Given the description of an element on the screen output the (x, y) to click on. 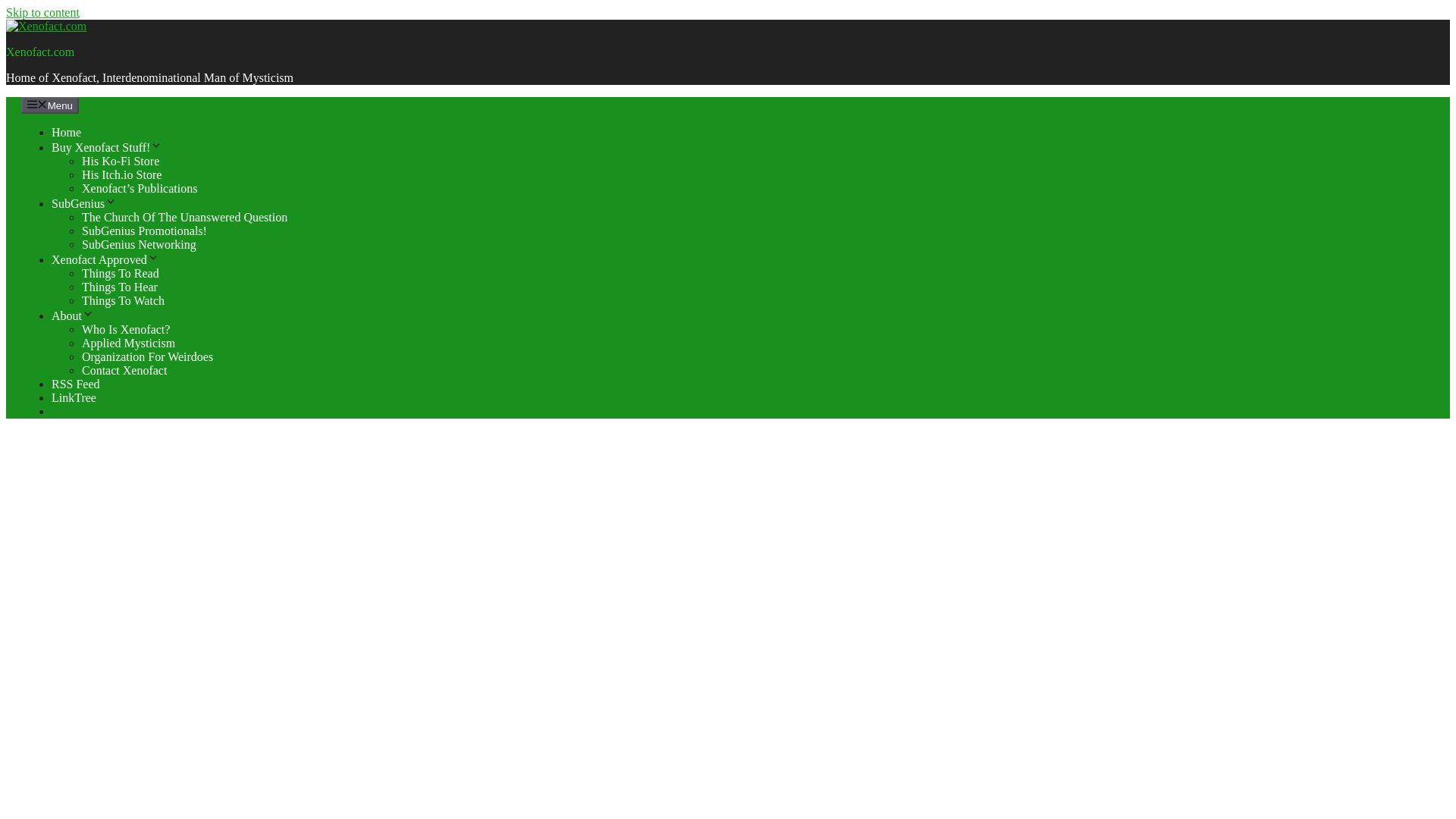
Home (65, 132)
LinkTree (73, 397)
Buy Xenofact Stuff! (105, 146)
The Church Of The Unanswered Question (183, 216)
SubGenius (83, 203)
RSS Feed (75, 383)
His Itch.io Store (121, 174)
Things To Read (119, 273)
Applied Mysticism (127, 342)
Who Is Xenofact? (125, 328)
His Ko-Fi Store (119, 160)
SubGenius Promotionals! (143, 230)
Things To Hear (119, 286)
Xenofact Approved (104, 259)
Menu (49, 105)
